Given the description of an element on the screen output the (x, y) to click on. 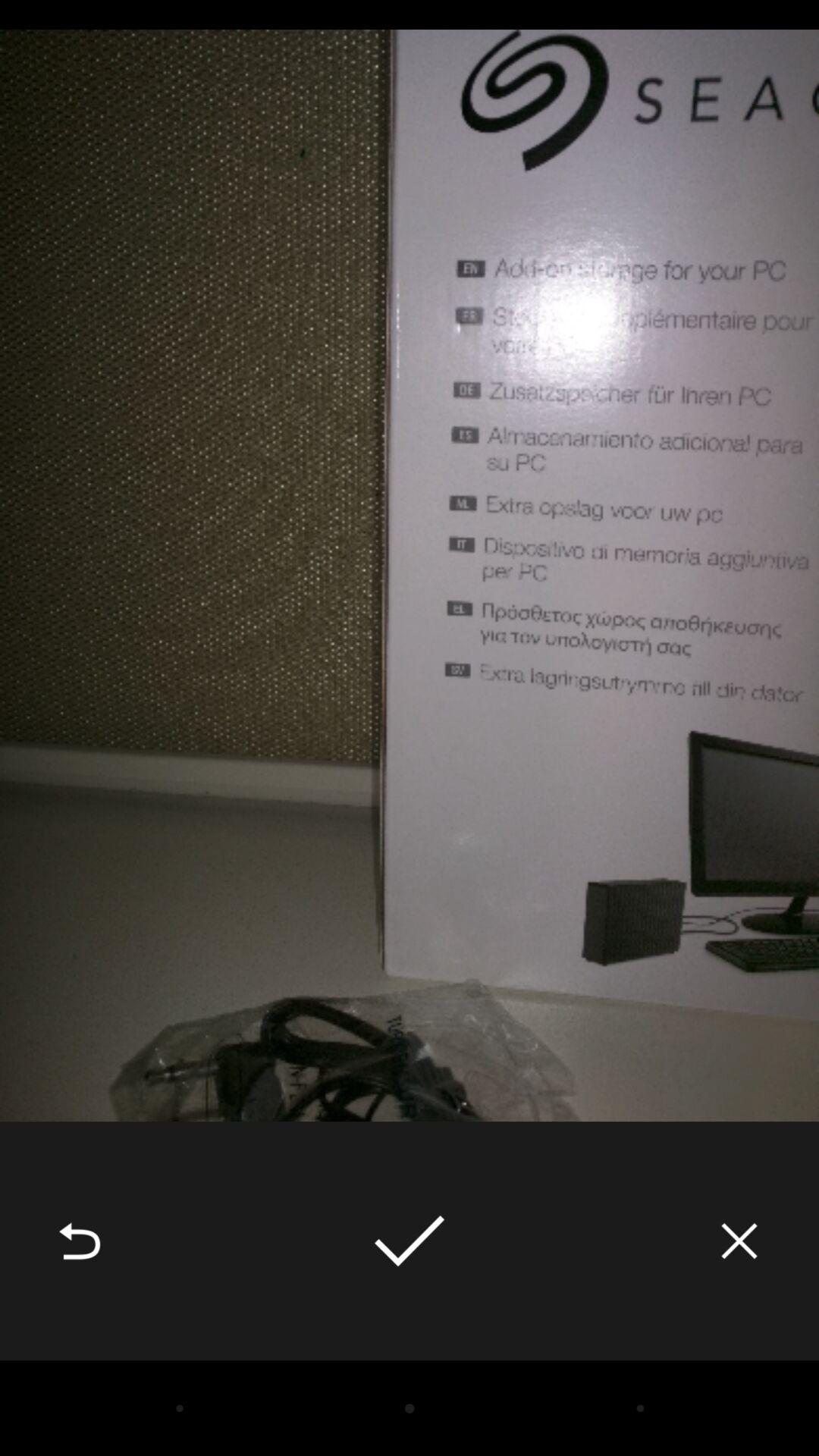
launch icon at the bottom left corner (79, 1240)
